Given the description of an element on the screen output the (x, y) to click on. 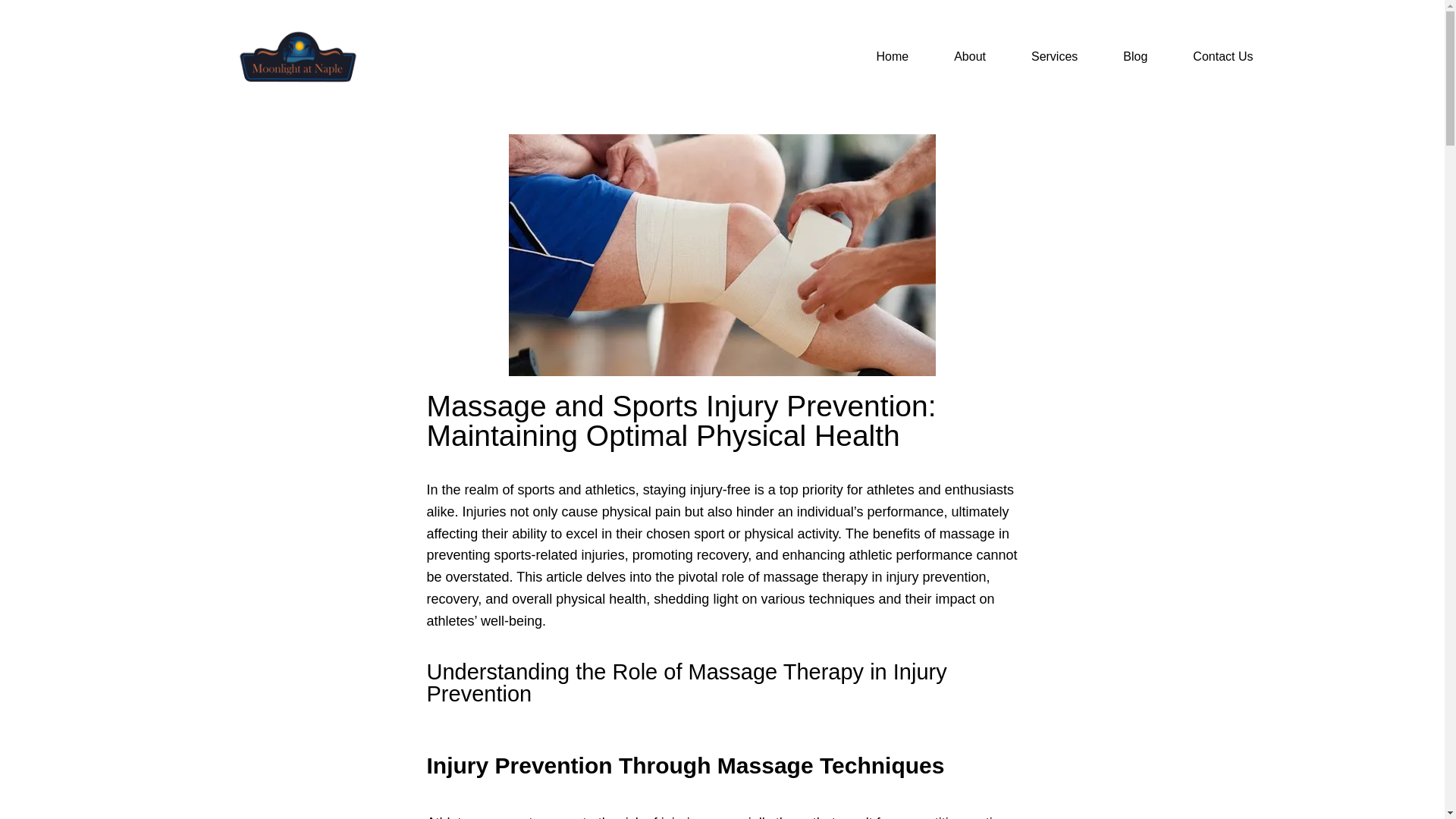
Blog (1134, 56)
Home (892, 56)
Injury Prevention Through Massage Techniques (684, 765)
Contact Us (1222, 56)
benefits of massage (933, 533)
About (969, 56)
Services (1053, 56)
